Given the description of an element on the screen output the (x, y) to click on. 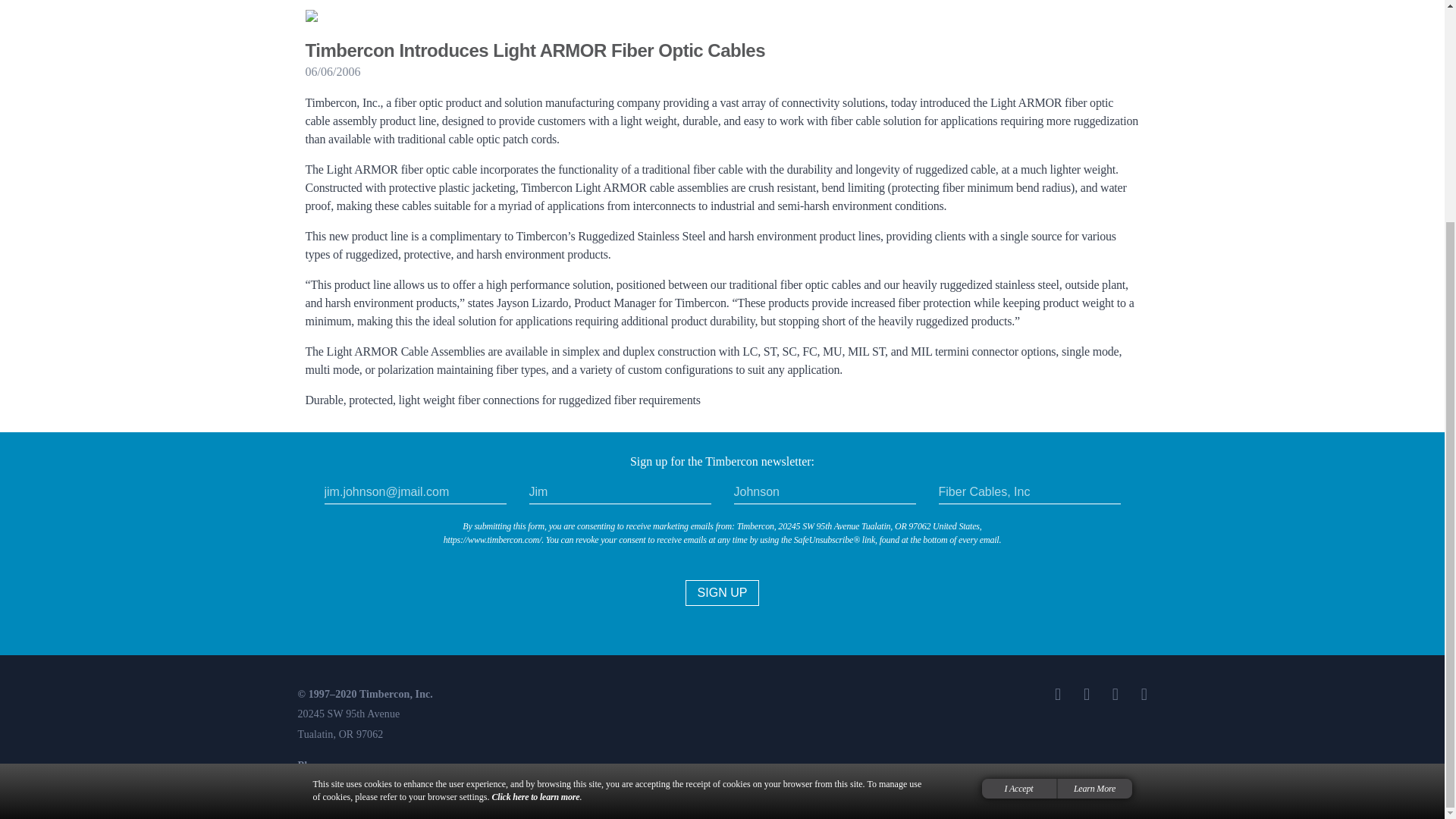
SIGN UP (722, 592)
